Given the description of an element on the screen output the (x, y) to click on. 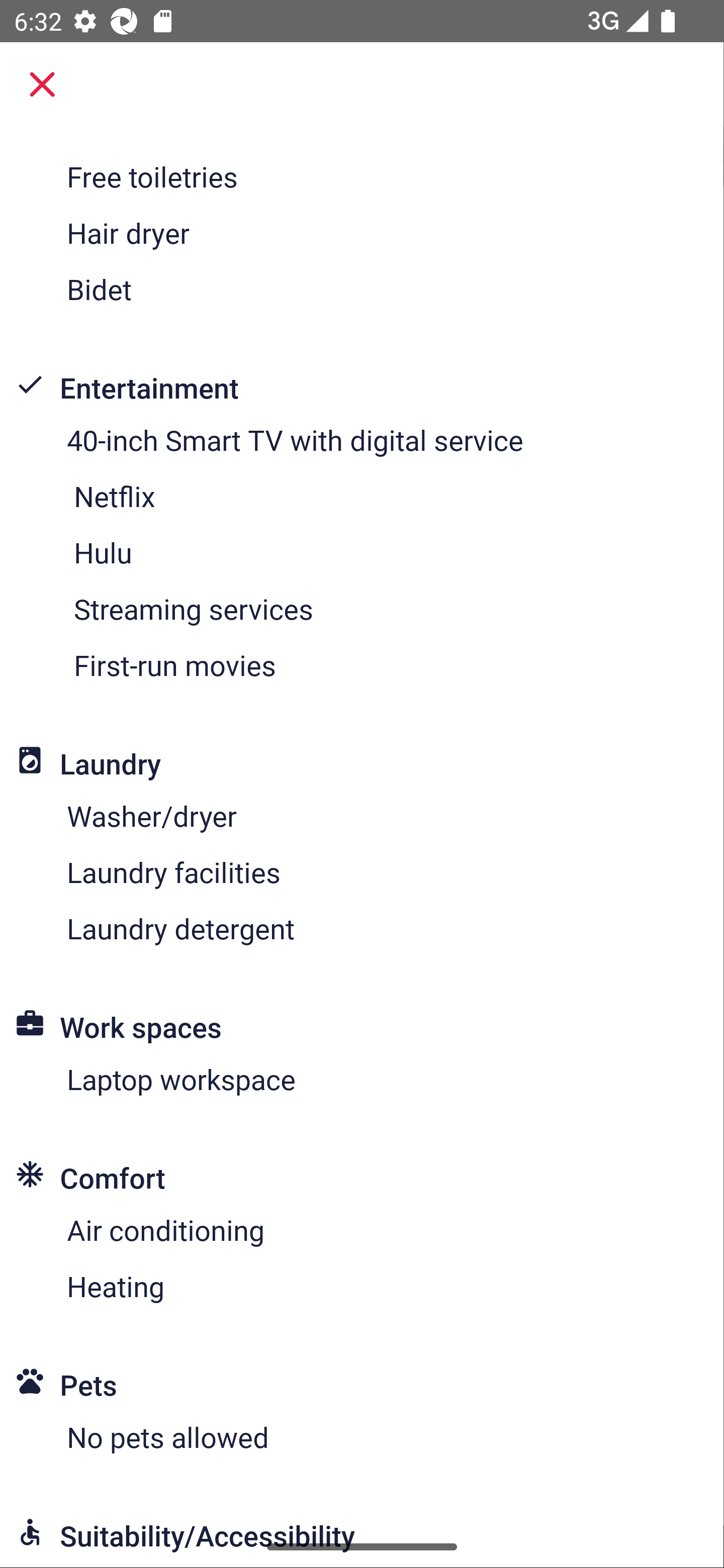
Close (42, 84)
